Given the description of an element on the screen output the (x, y) to click on. 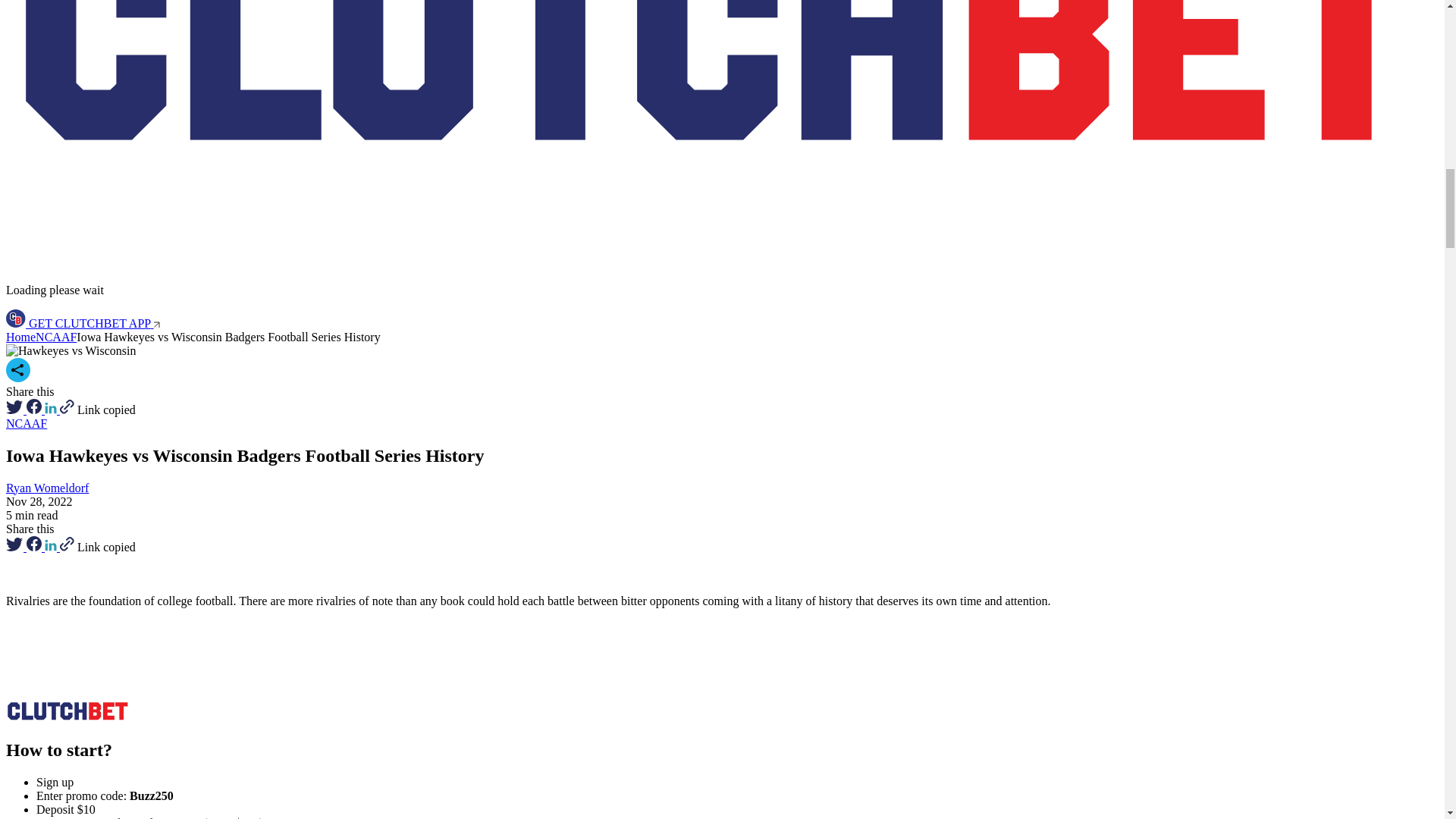
Go to the NCAAF Category archives. (55, 336)
Go to ClutchBet. (19, 336)
